Given the description of an element on the screen output the (x, y) to click on. 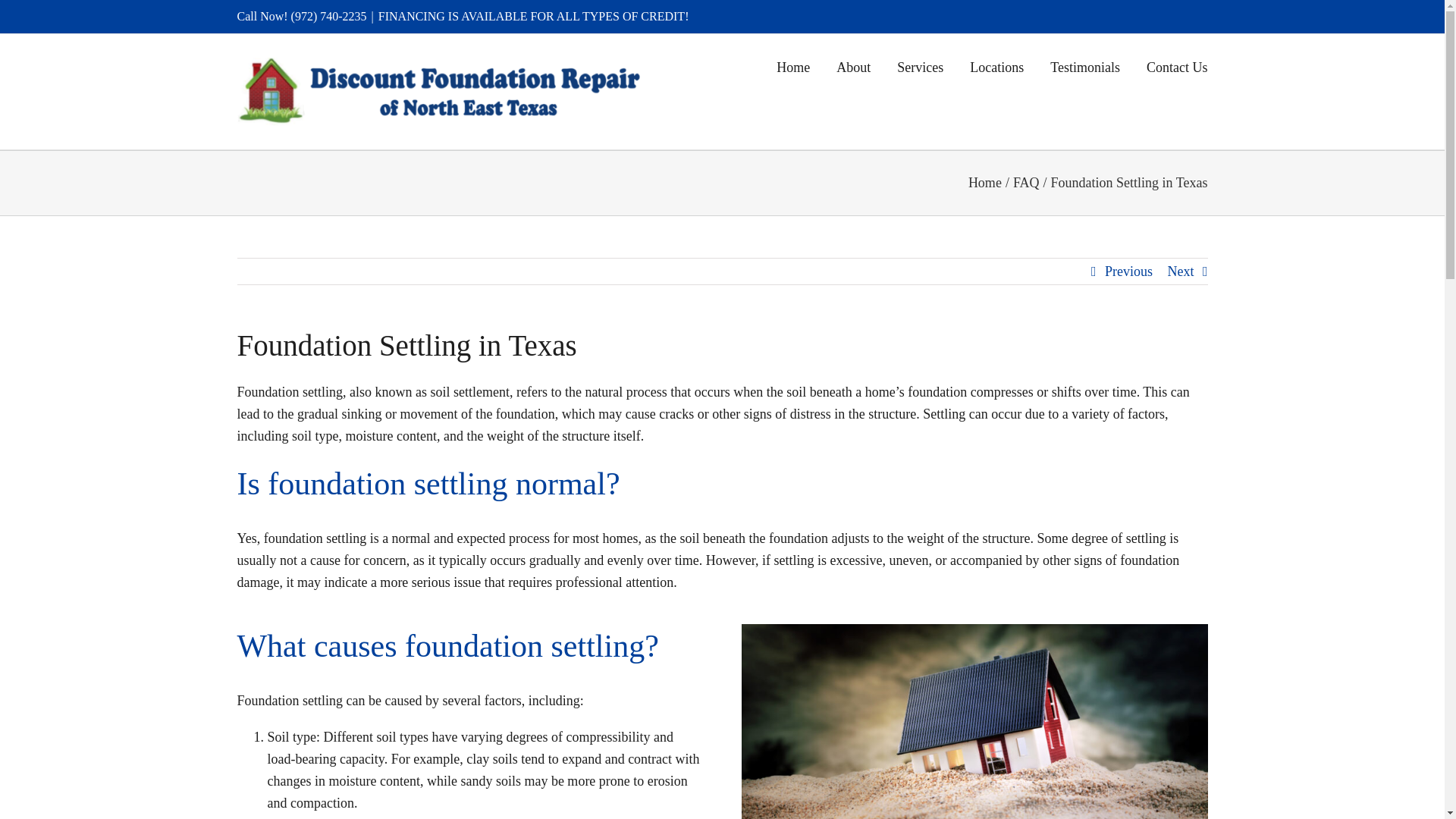
Next (1180, 271)
foundation settling in dallas fort worth (974, 721)
Testimonials (1084, 65)
Previous (1129, 271)
Contact Us (1177, 65)
FAQ (1026, 182)
Home (984, 182)
FINANCING IS AVAILABLE FOR ALL TYPES OF CREDIT! (533, 15)
